Given the description of an element on the screen output the (x, y) to click on. 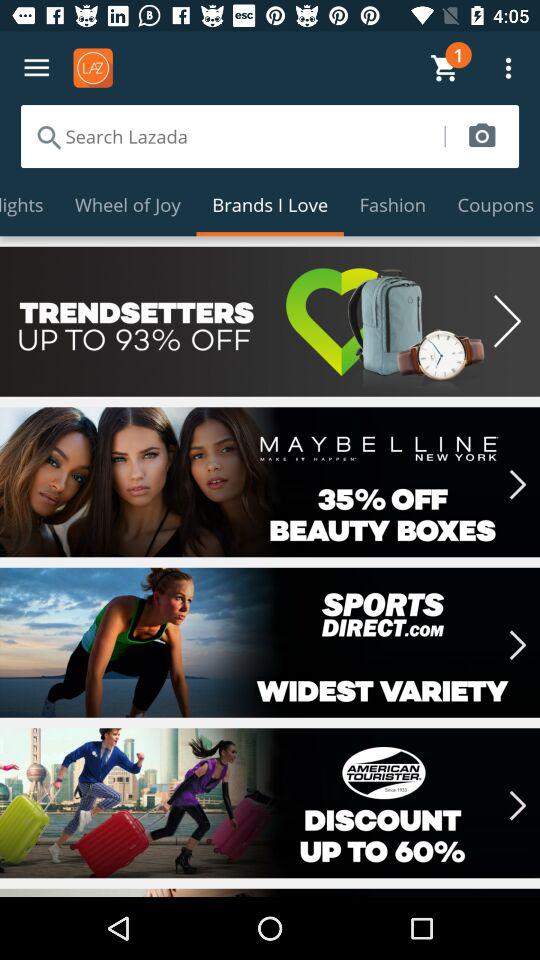
menu (36, 68)
